Given the description of an element on the screen output the (x, y) to click on. 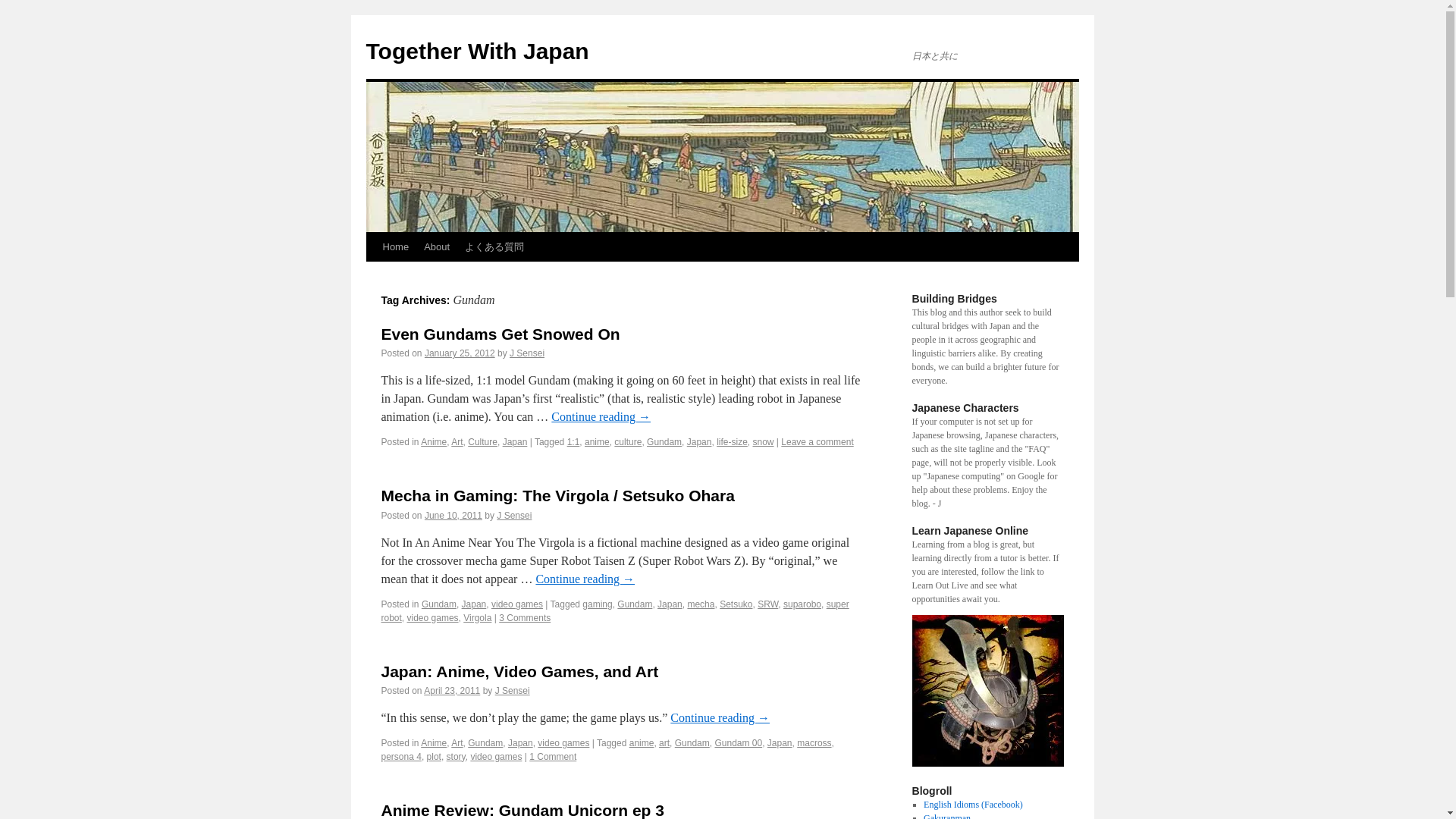
SRW (767, 603)
7:01 pm (451, 690)
J Sensei (526, 353)
Setsuko (735, 603)
mecha (700, 603)
snow (762, 441)
View all posts by J Sensei (526, 353)
video games (517, 603)
Art (457, 441)
Gundam (634, 603)
Gundam (663, 441)
About (436, 246)
3 Comments (524, 617)
8:28 am (453, 515)
Anime (433, 441)
